Given the description of an element on the screen output the (x, y) to click on. 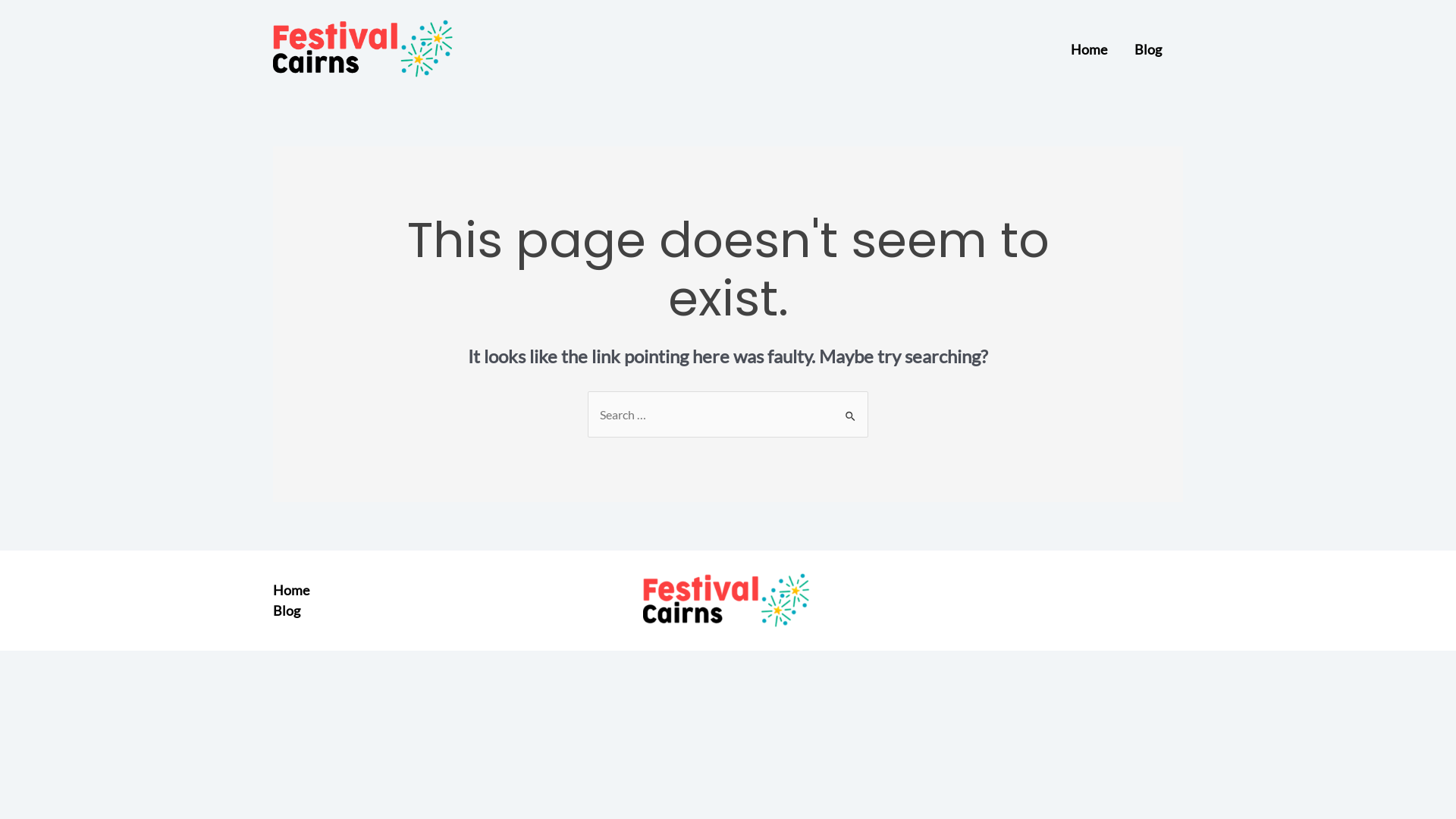
Home Element type: text (291, 590)
Search Element type: text (851, 411)
Home Element type: text (1088, 48)
Blog Element type: text (286, 610)
Blog Element type: text (1147, 48)
